Given the description of an element on the screen output the (x, y) to click on. 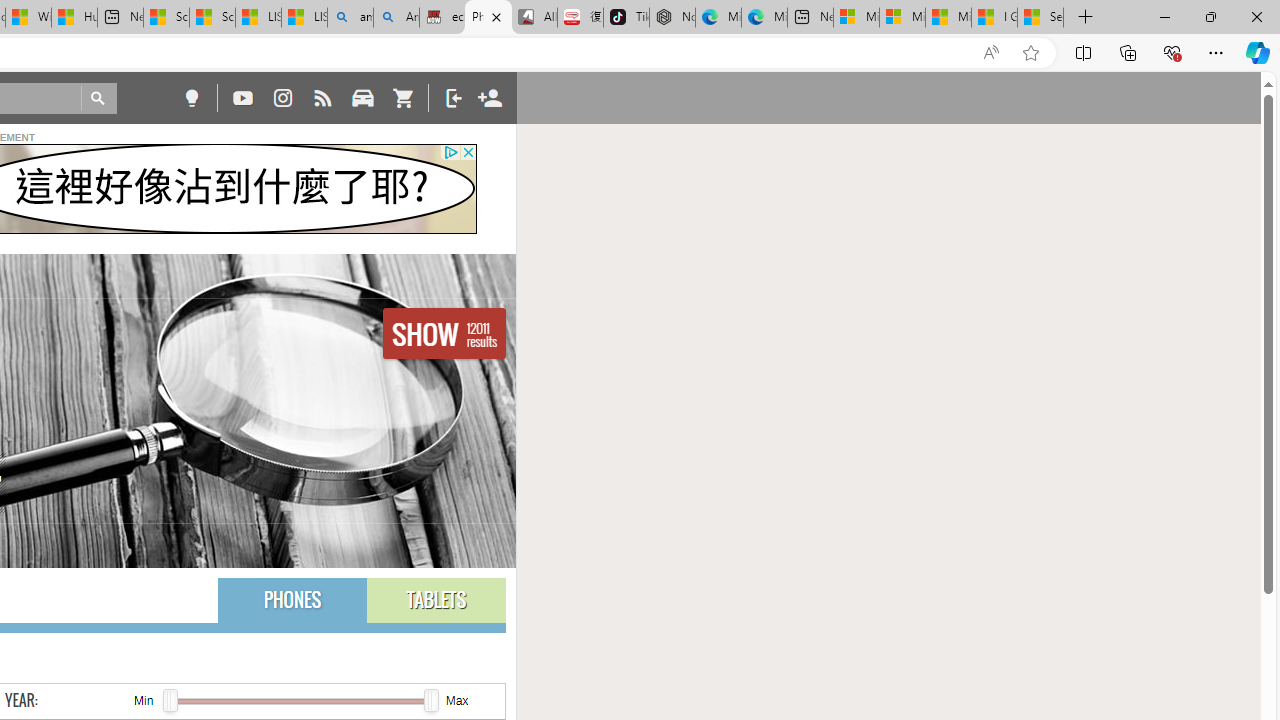
TABLETS (436, 600)
PHONES (292, 600)
AutomationID: close_button_svg (468, 151)
Amazon Echo Dot PNG - Search Images (395, 17)
